Given the description of an element on the screen output the (x, y) to click on. 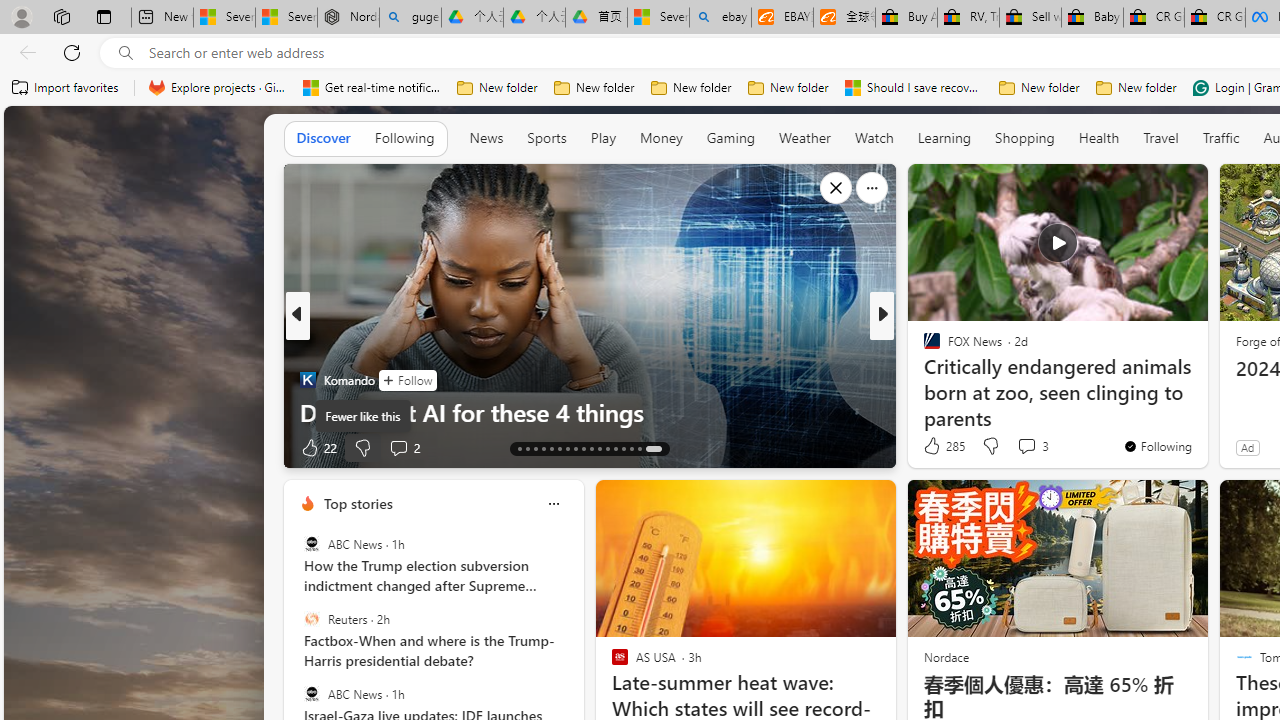
AutomationID: tab-13 (518, 448)
AutomationID: tab-41 (638, 448)
Gaming (730, 137)
Play (602, 137)
AutomationID: tab-21 (582, 448)
Hide this story (1147, 187)
AutomationID: tab-42 (653, 448)
Buy Auto Parts & Accessories | eBay (905, 17)
AutomationID: tab-14 (527, 448)
View comments 3 Comment (1032, 446)
Sports (546, 138)
